Given the description of an element on the screen output the (x, y) to click on. 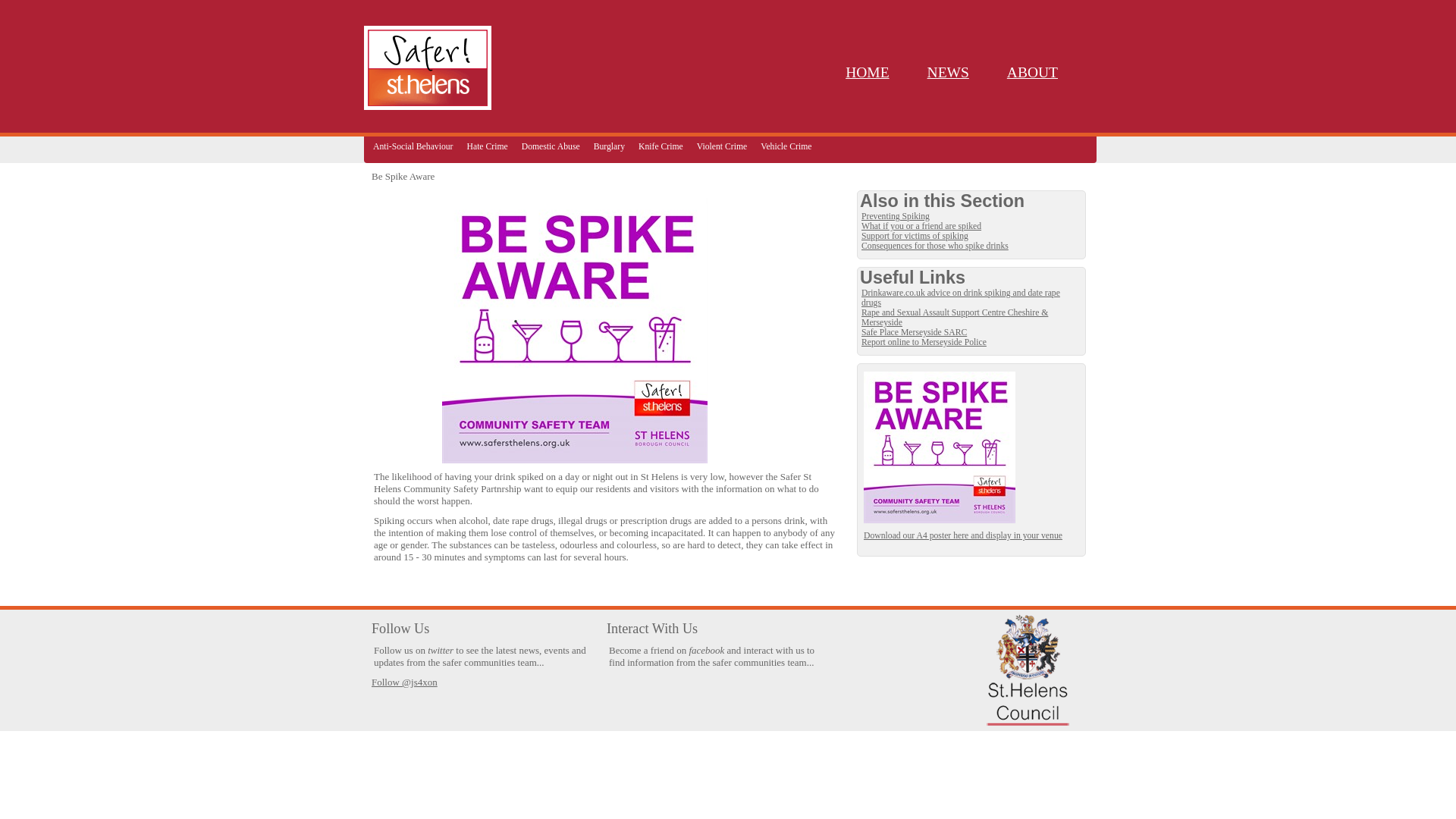
Download our A4 poster here and display in your venue (971, 535)
Be Spike Aware A4 printable poster (971, 535)
Drinkaware.co.uk advice on drink spiking and date rape drugs (970, 297)
Consequences for those who spike drinks (970, 245)
Anti-Social Behaviour (413, 146)
Vehicle Crime (786, 146)
Hate Crime (486, 146)
Domestic Abuse (550, 146)
ABOUT (1032, 72)
Preventing Spiking (970, 216)
